Given the description of an element on the screen output the (x, y) to click on. 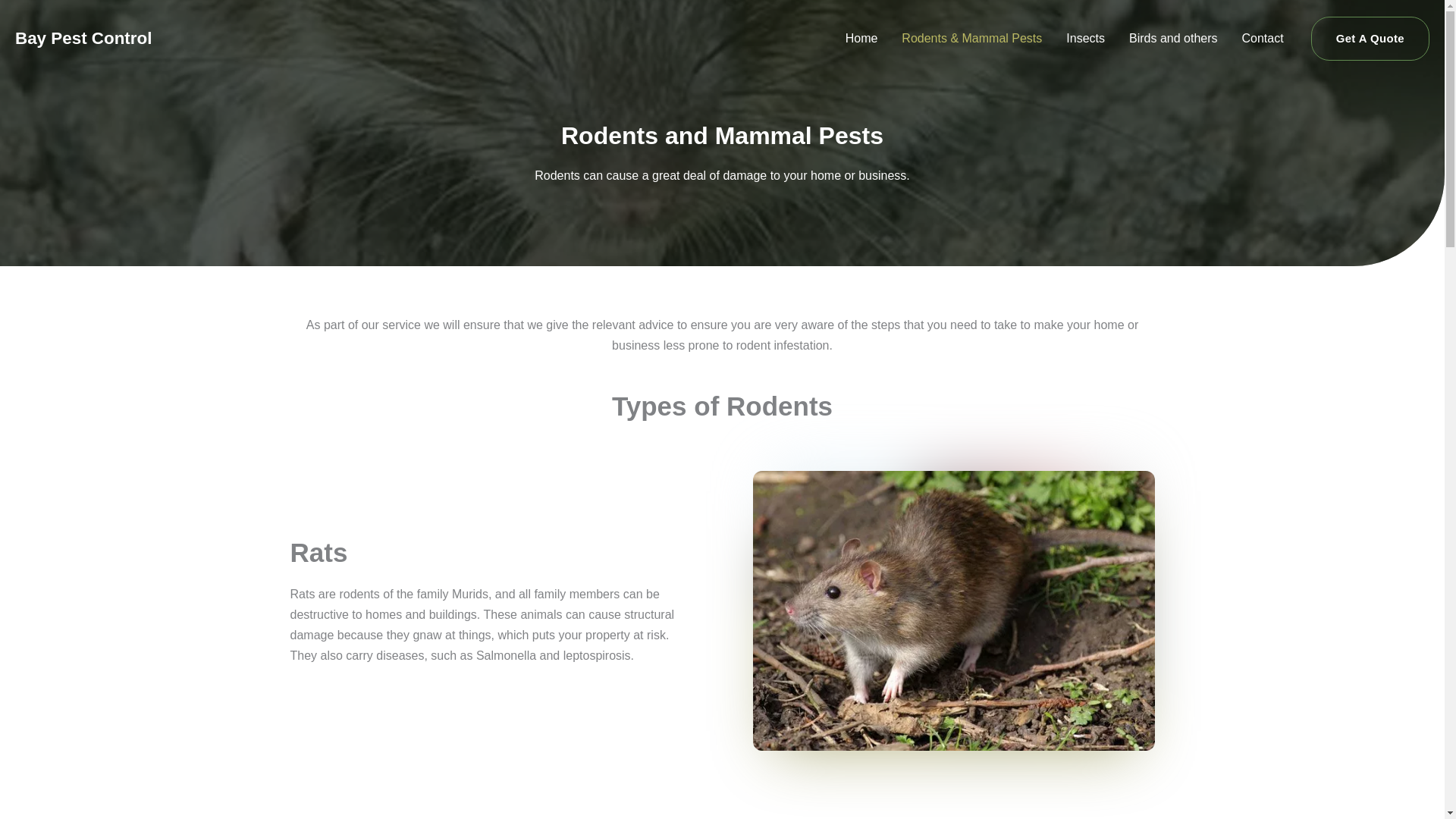
Home (860, 38)
Insects (1085, 38)
Birds and others (1173, 38)
Get A Quote (1370, 38)
Bay Pest Control (82, 37)
Contact (1262, 38)
